Given the description of an element on the screen output the (x, y) to click on. 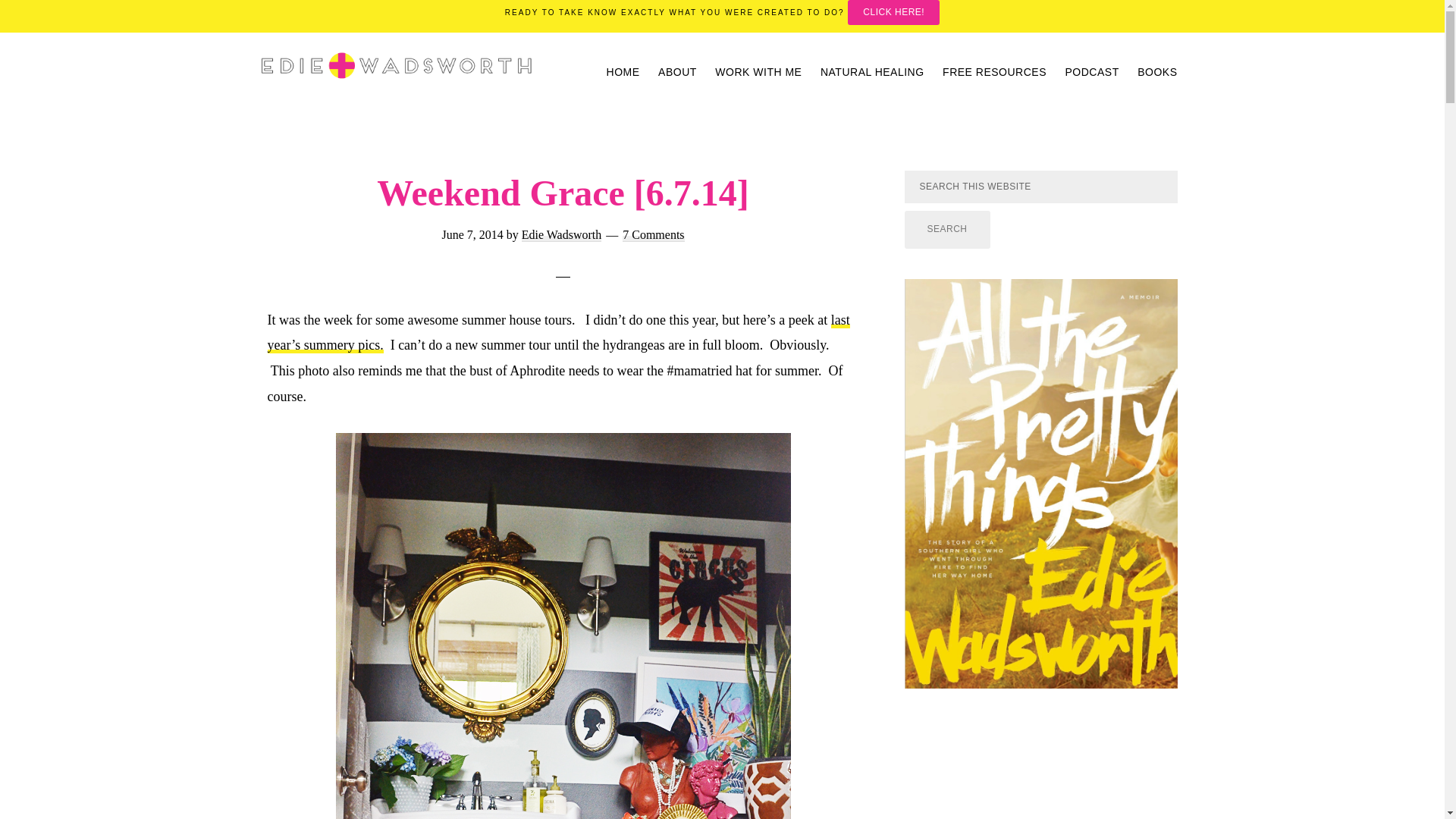
Search (947, 229)
FREE RESOURCES (994, 70)
NATURAL HEALING (871, 70)
HOME (622, 70)
WORK WITH ME (758, 70)
Edie Wadsworth (561, 233)
CLICK HERE! (893, 12)
ABOUT (677, 70)
Search (947, 229)
